Given the description of an element on the screen output the (x, y) to click on. 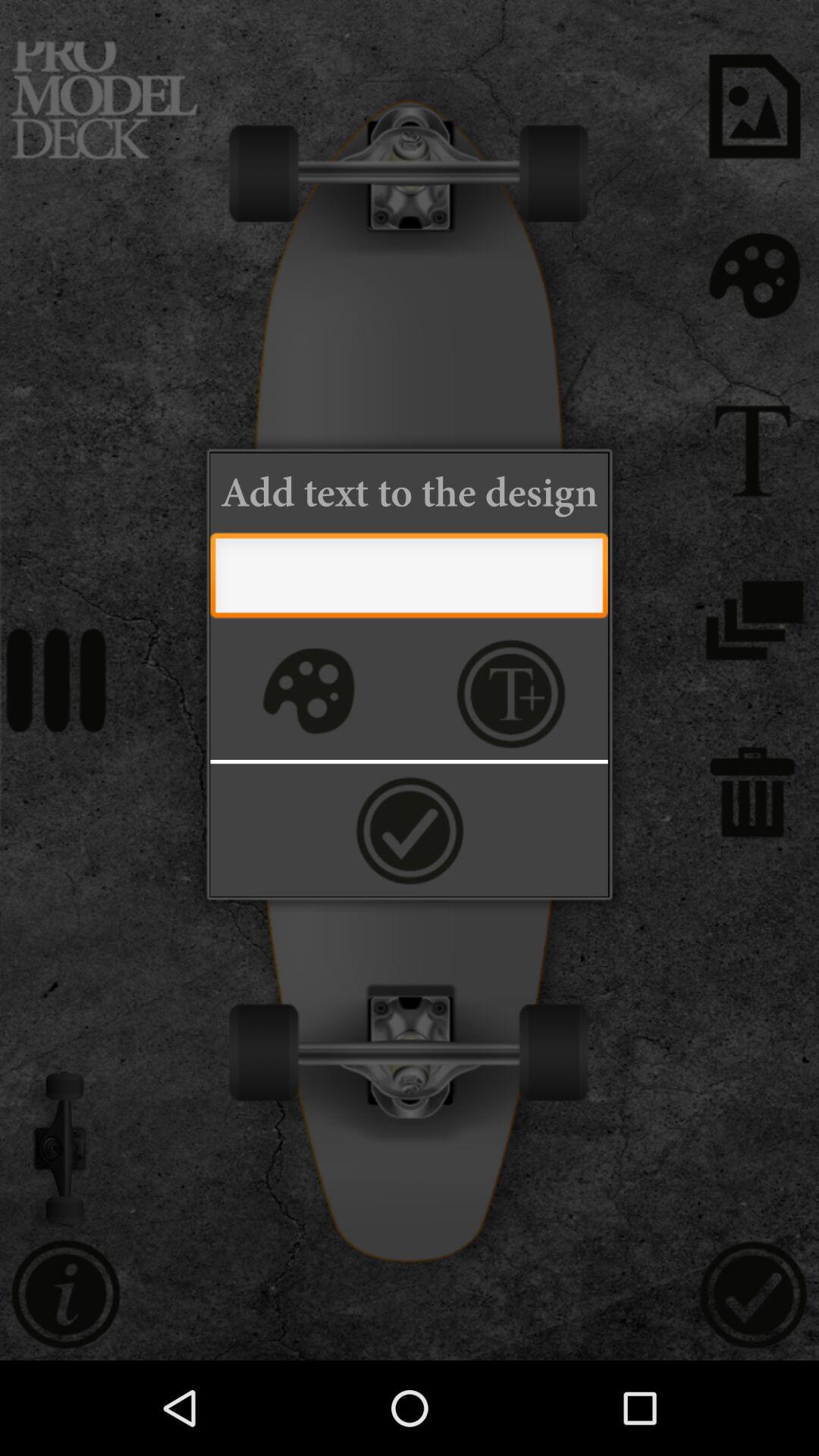
create custom painting (306, 693)
